Given the description of an element on the screen output the (x, y) to click on. 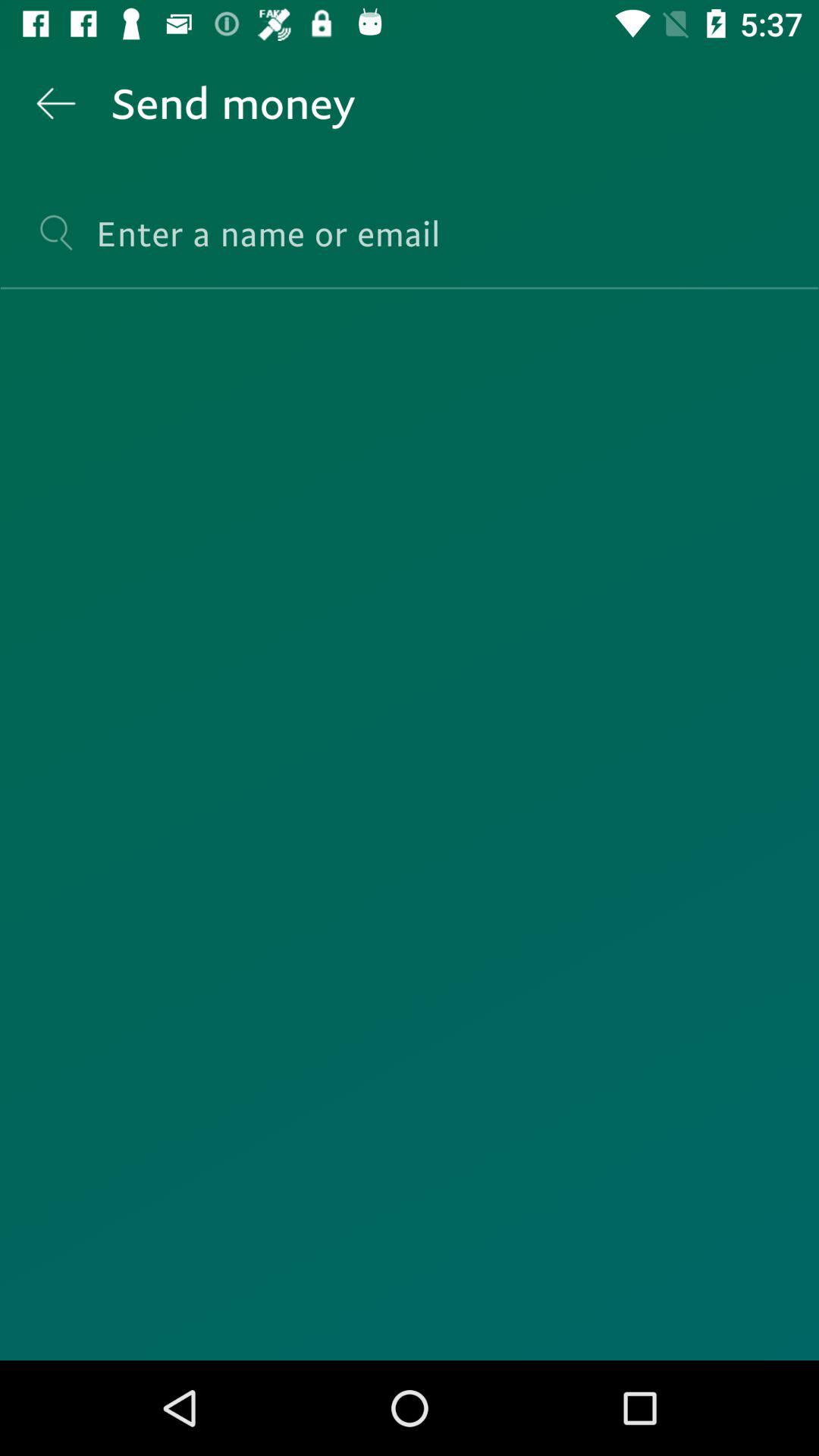
choose icon at the center (409, 825)
